Given the description of an element on the screen output the (x, y) to click on. 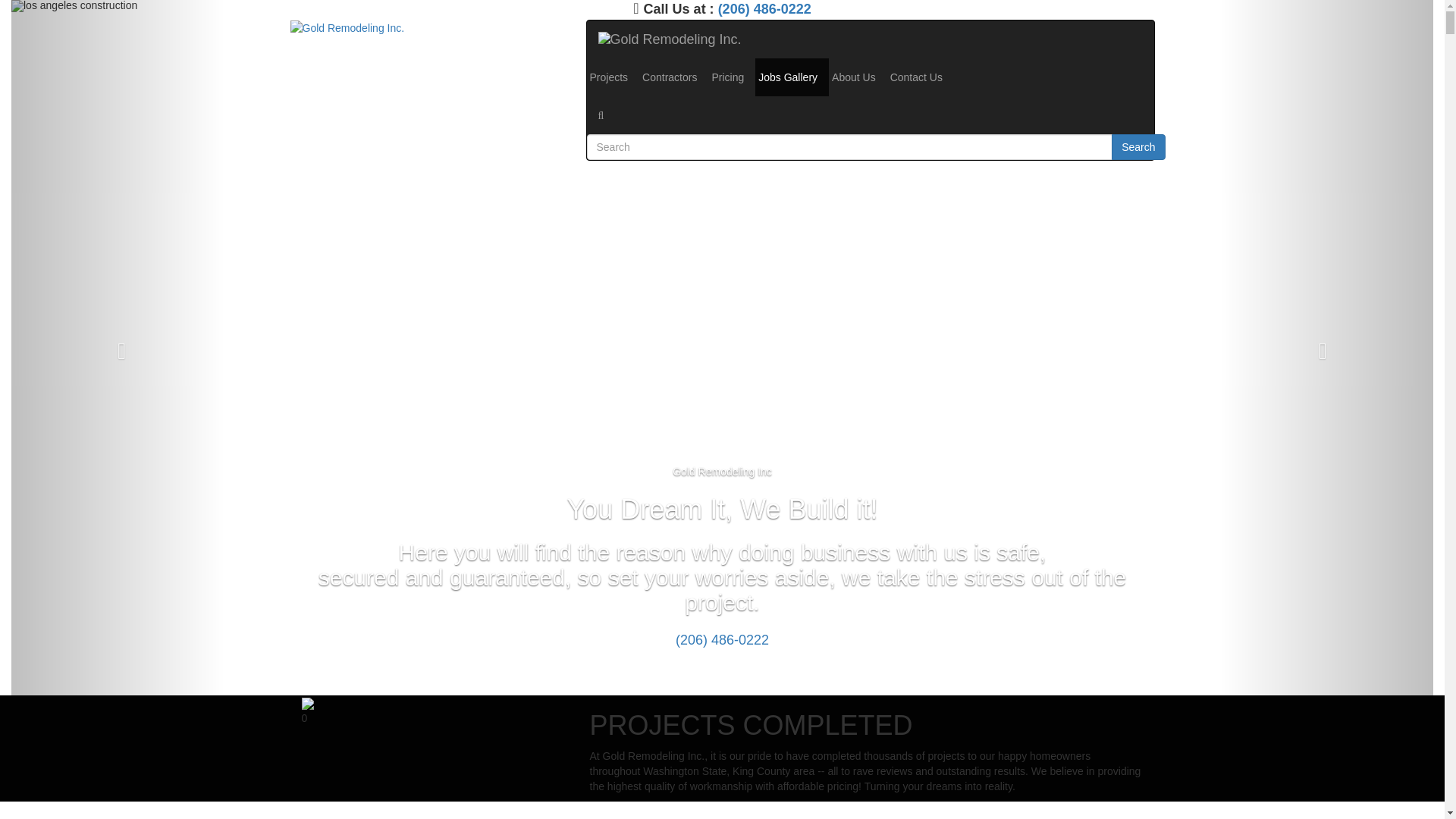
Search Element type: text (1137, 147)
(206) 486-0222 Element type: text (721, 639)
(206) 486-0222 Element type: text (764, 8)
Projects Element type: text (613, 77)
los angeles construction Element type: hover (722, 347)
Contractors Element type: text (673, 77)
Search Element type: hover (875, 115)
Next Element type: text (1326, 347)
Contact Us Element type: text (920, 77)
About Us Element type: text (857, 77)
Pricing Element type: text (731, 77)
Jobs Gallery Element type: text (791, 77)
Previous Element type: text (117, 347)
